Given the description of an element on the screen output the (x, y) to click on. 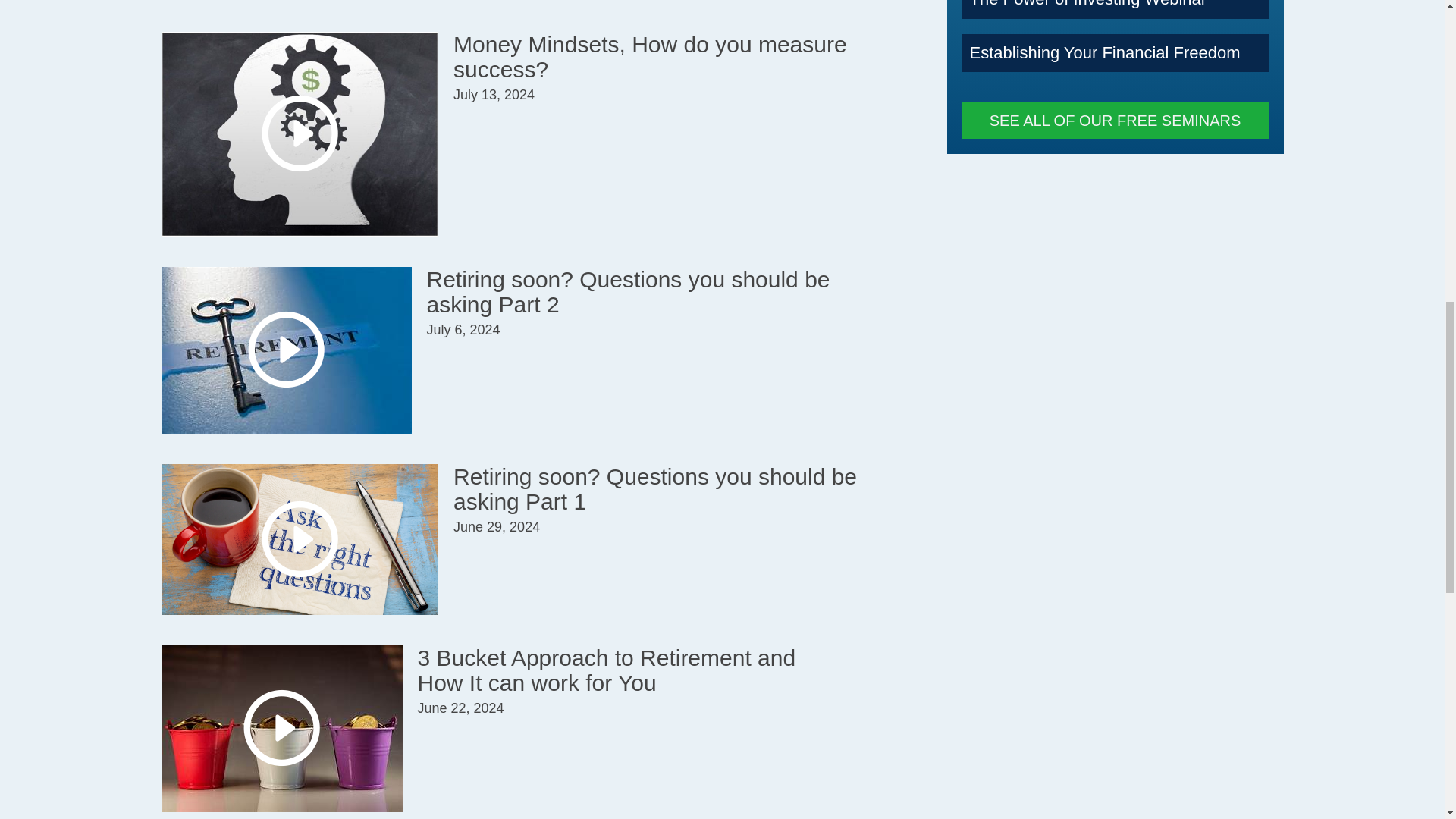
Retiring soon? Questions you should be asking Part 1 (654, 489)
Establishing Your Financial Freedom (1104, 52)
3 Bucket Approach to Retirement and How It can work for You (605, 670)
Money Mindsets, How do you measure success? (649, 56)
The Power of Investing Webinar (1088, 4)
Retiring soon? Questions you should be asking Part 2 (627, 291)
SEE ALL OF OUR FREE SEMINARS (1114, 120)
Money Mindsets, How do you measure success? (649, 56)
Retiring soon? Questions you should be asking Part 2 (627, 291)
Retiring soon? Questions you should be asking Part 1 (654, 489)
Establishing Your Financial Freedom (1104, 52)
3 Bucket Approach to Retirement and How It can work for You (605, 670)
The Power of Investing Webinar (1088, 4)
